Given the description of an element on the screen output the (x, y) to click on. 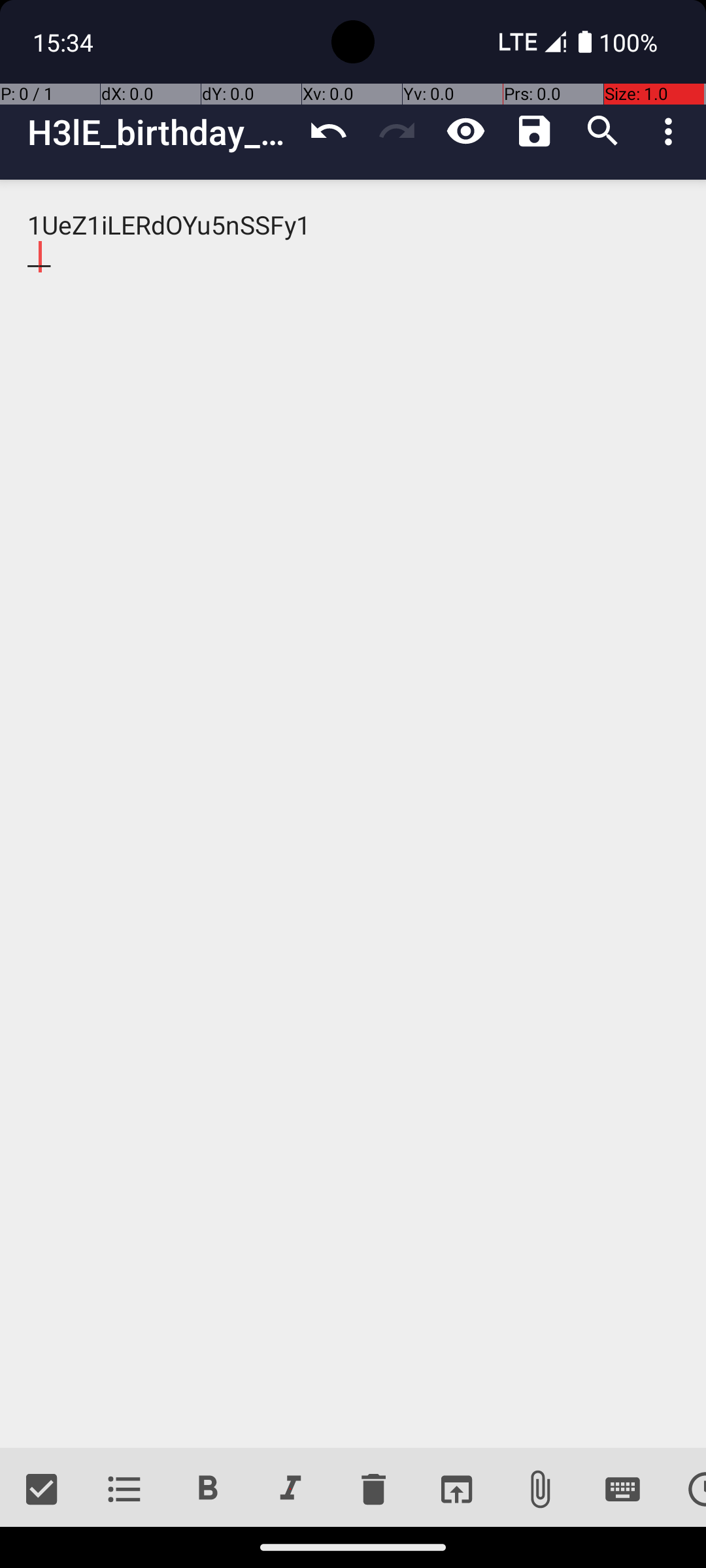
H3lE_birthday_gift_ideas_mom Element type: android.widget.TextView (160, 131)
1UeZ1iLERdOYu5nSSFy1
__ Element type: android.widget.EditText (353, 813)
